Given the description of an element on the screen output the (x, y) to click on. 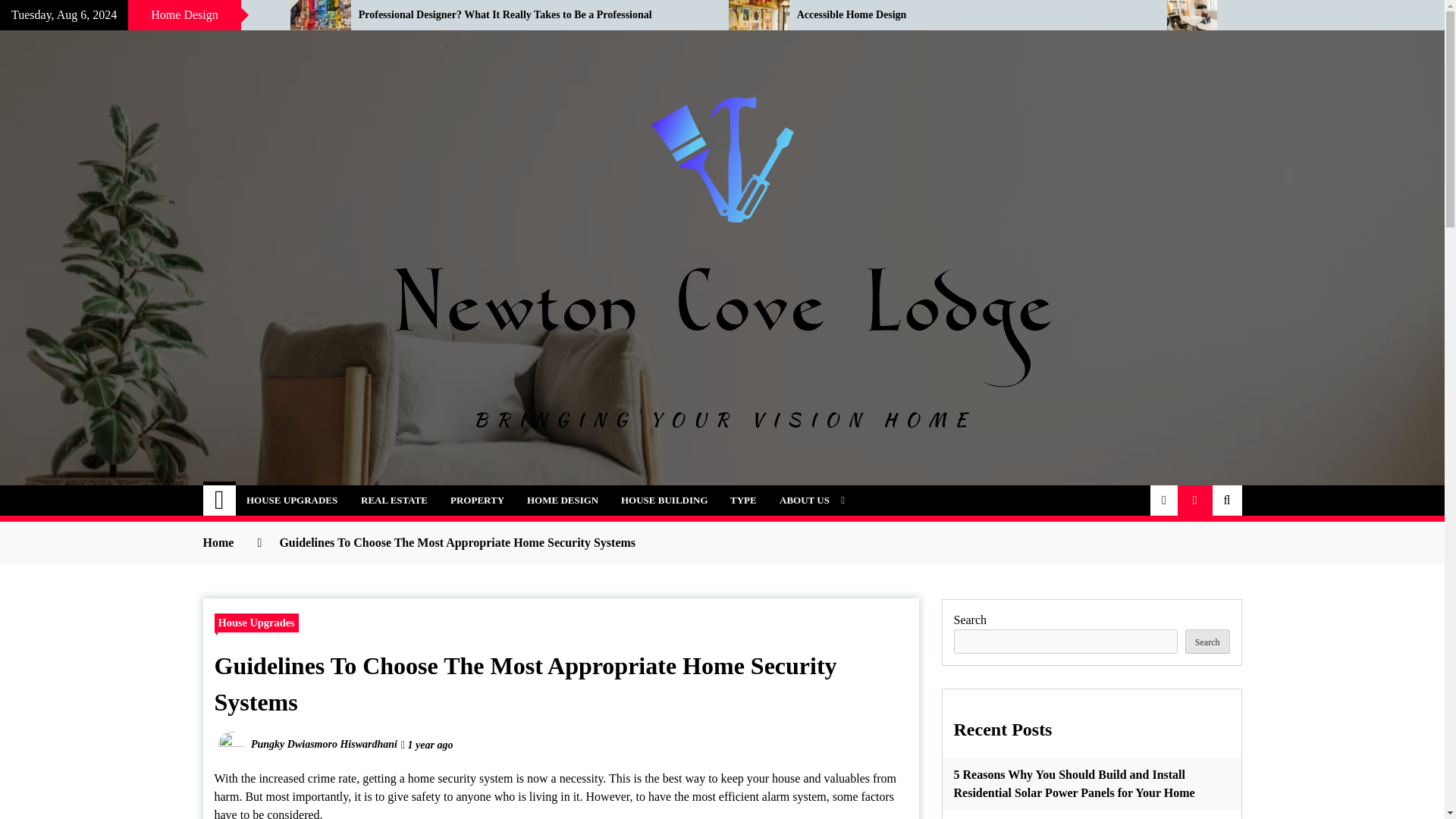
Home (219, 500)
Accessible Home Design (970, 15)
